Given the description of an element on the screen output the (x, y) to click on. 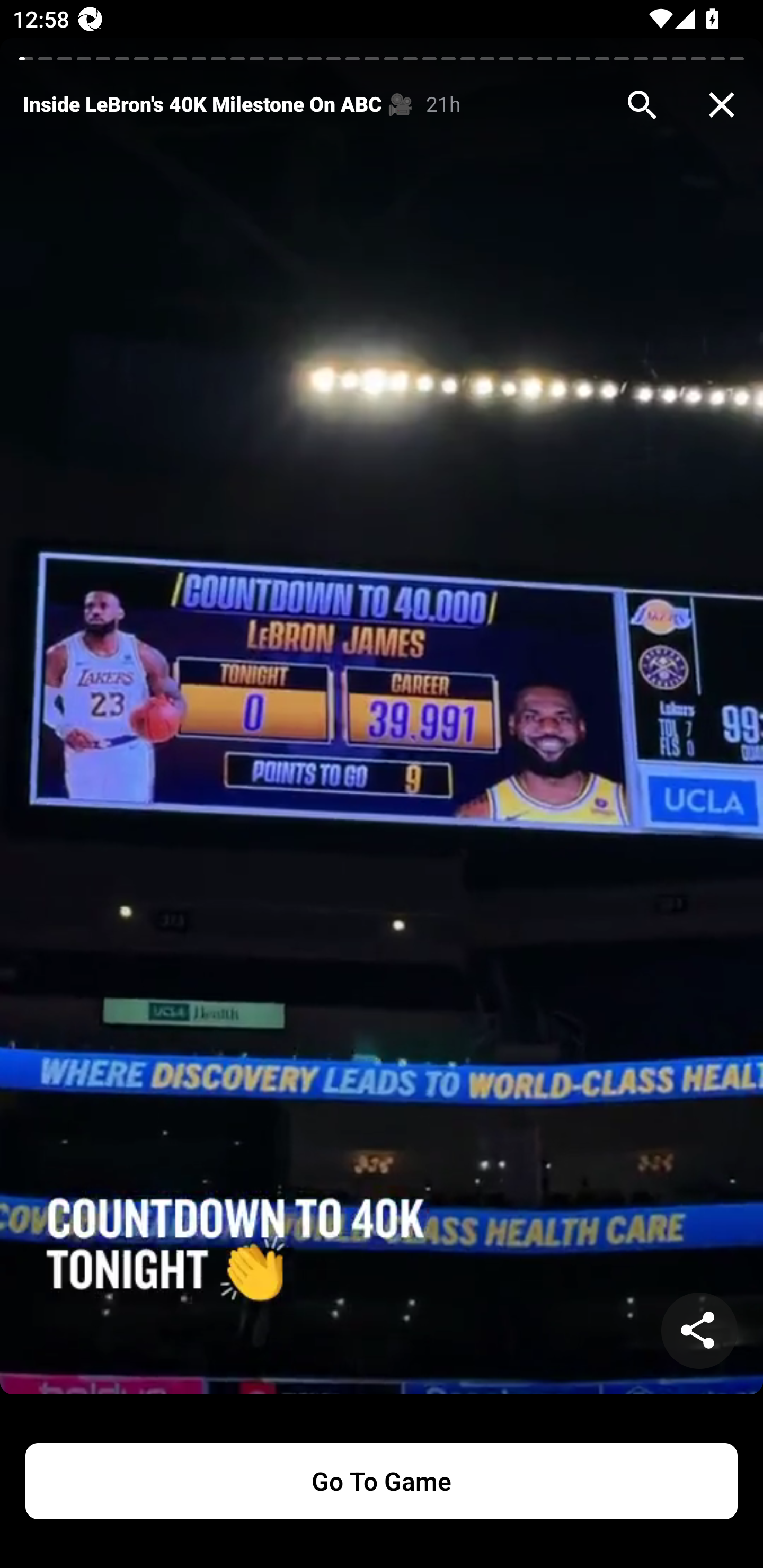
search (642, 104)
close (721, 104)
share (699, 1330)
Go To Game (381, 1480)
